Given the description of an element on the screen output the (x, y) to click on. 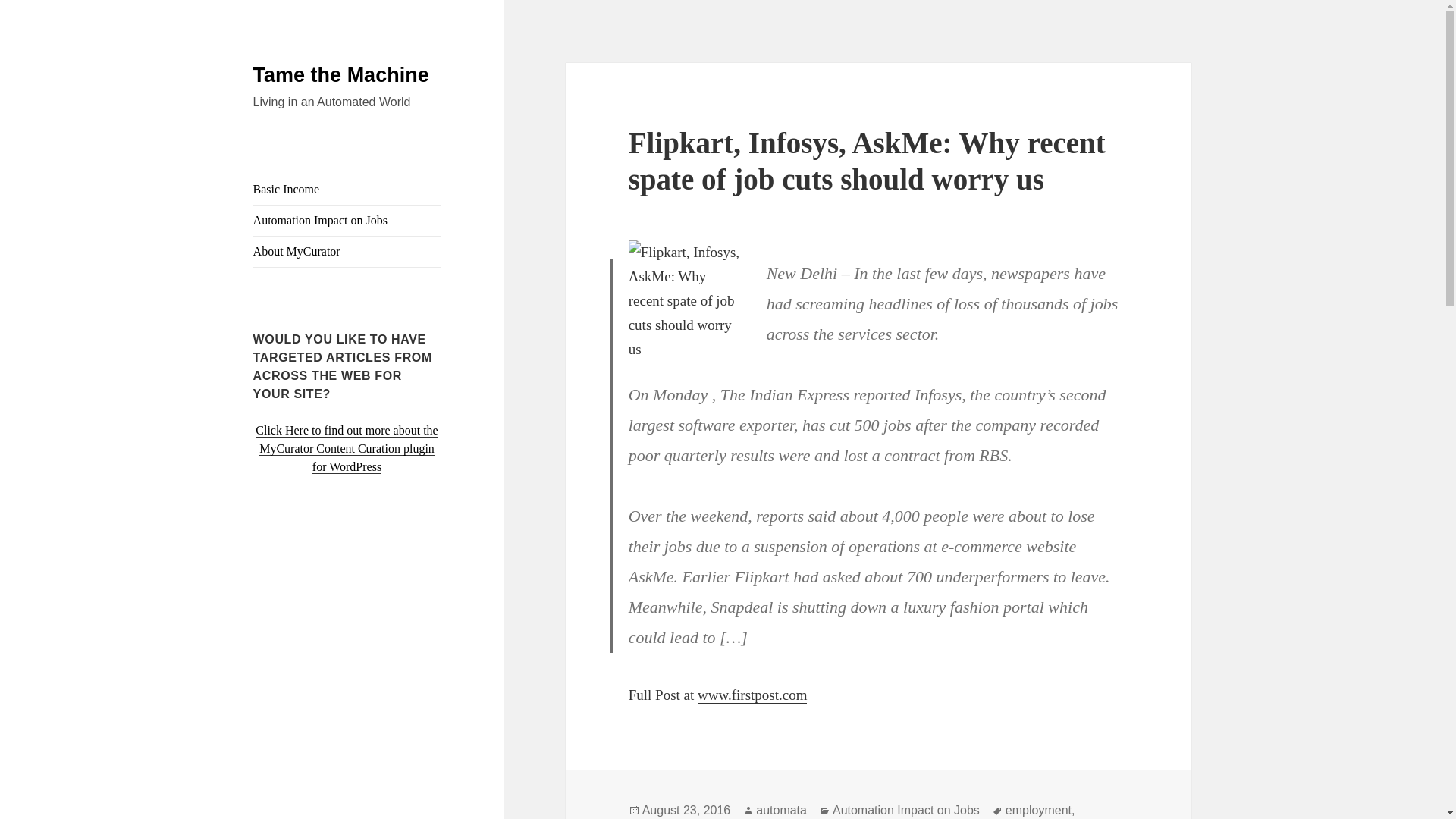
Automation Impact on Jobs (905, 810)
employment (1038, 810)
Tame the Machine (341, 74)
www.firstpost.com (751, 695)
About MyCurator (347, 251)
Automation Impact on Jobs (347, 220)
August 23, 2016 (686, 810)
automata (780, 810)
Basic Income (347, 189)
